Given the description of an element on the screen output the (x, y) to click on. 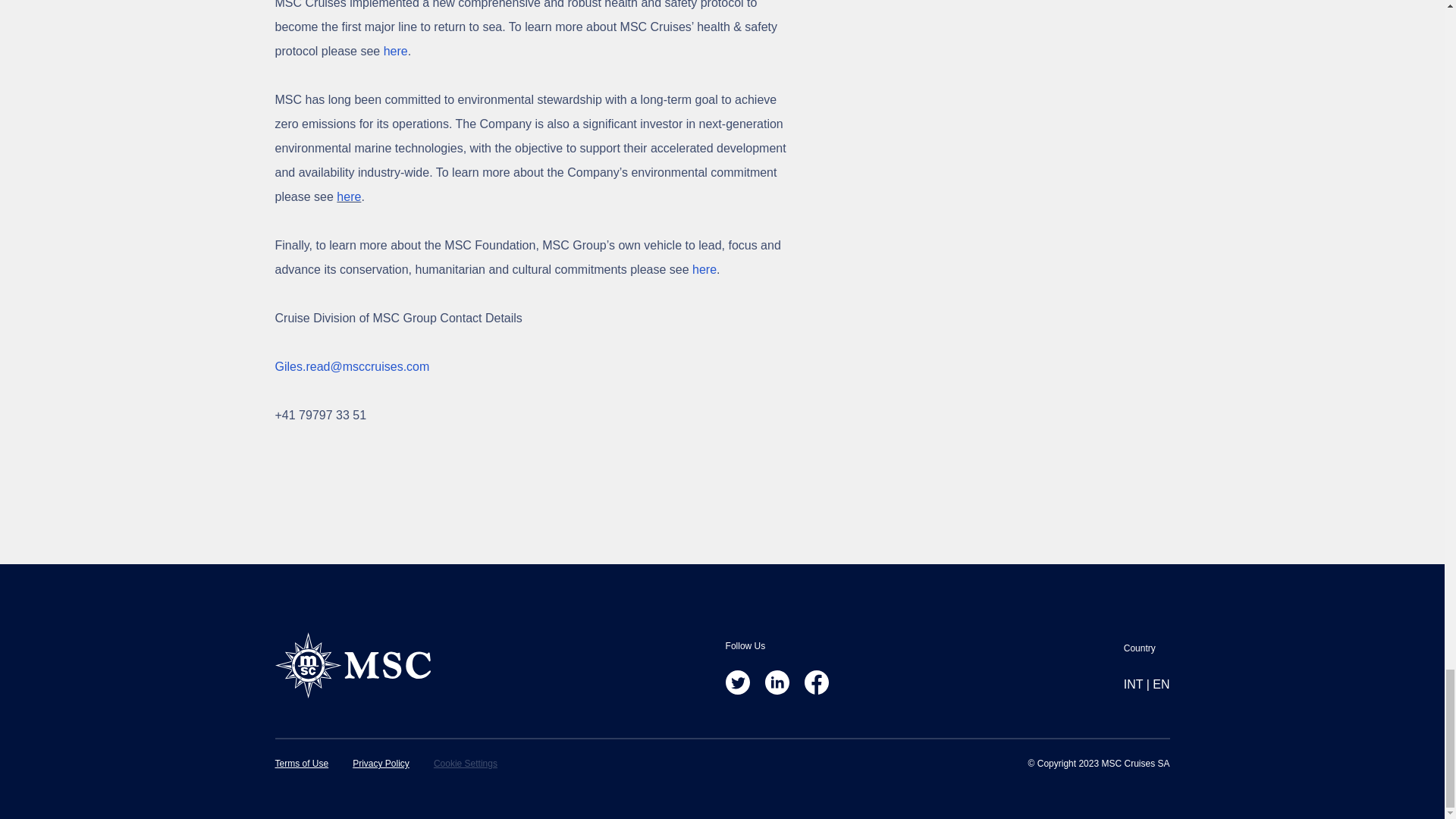
here (704, 269)
here (395, 51)
here (348, 196)
